Given the description of an element on the screen output the (x, y) to click on. 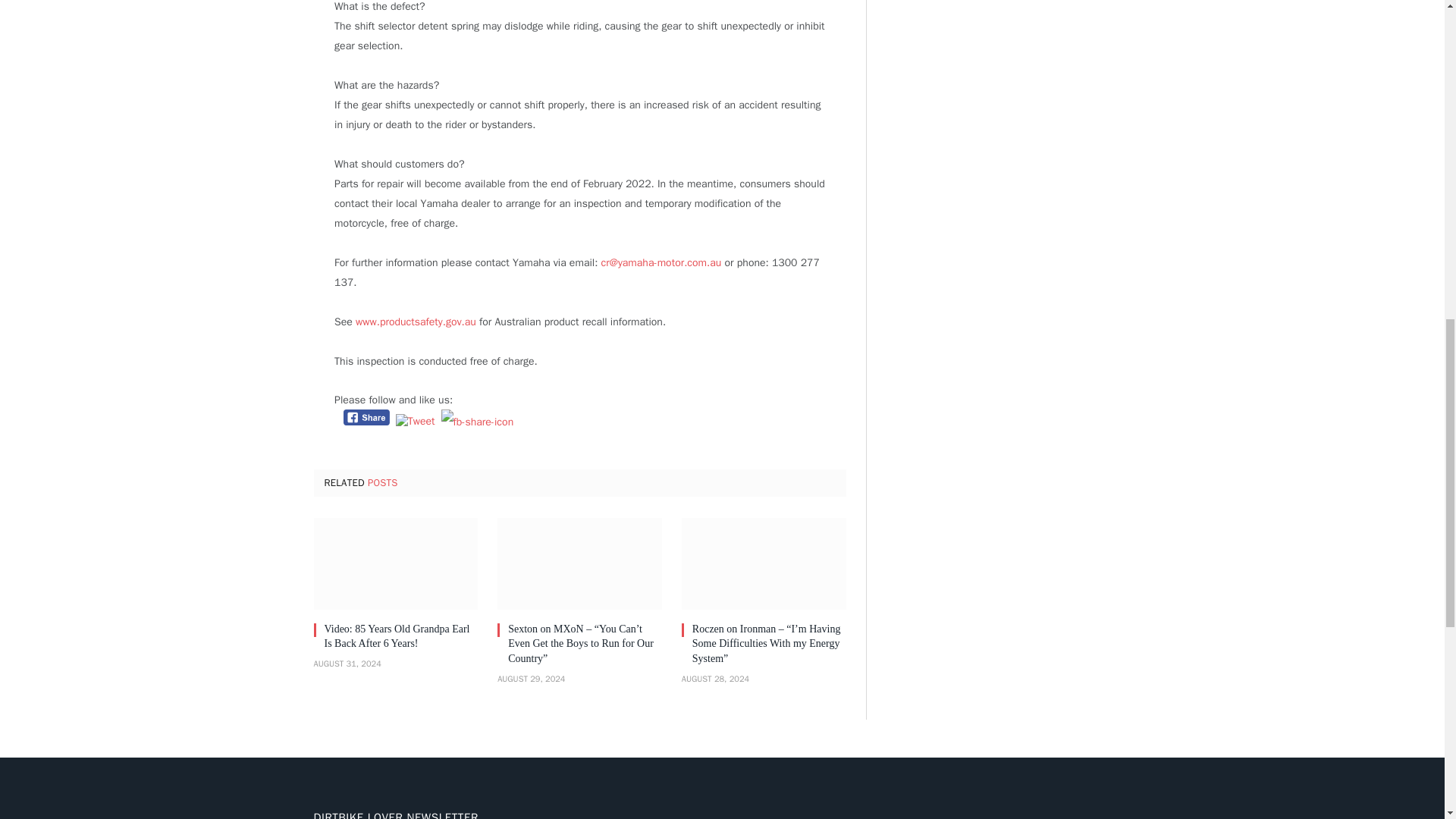
www.productsafety.gov.au (415, 321)
Video: 85 Years Old Grandpa Earl Is Back After 6 Years! (401, 635)
Facebook Share (366, 417)
Tweet (415, 421)
Pin Share (477, 421)
Video: 85 Years Old Grandpa Earl Is Back After 6 Years! (396, 563)
